Given the description of an element on the screen output the (x, y) to click on. 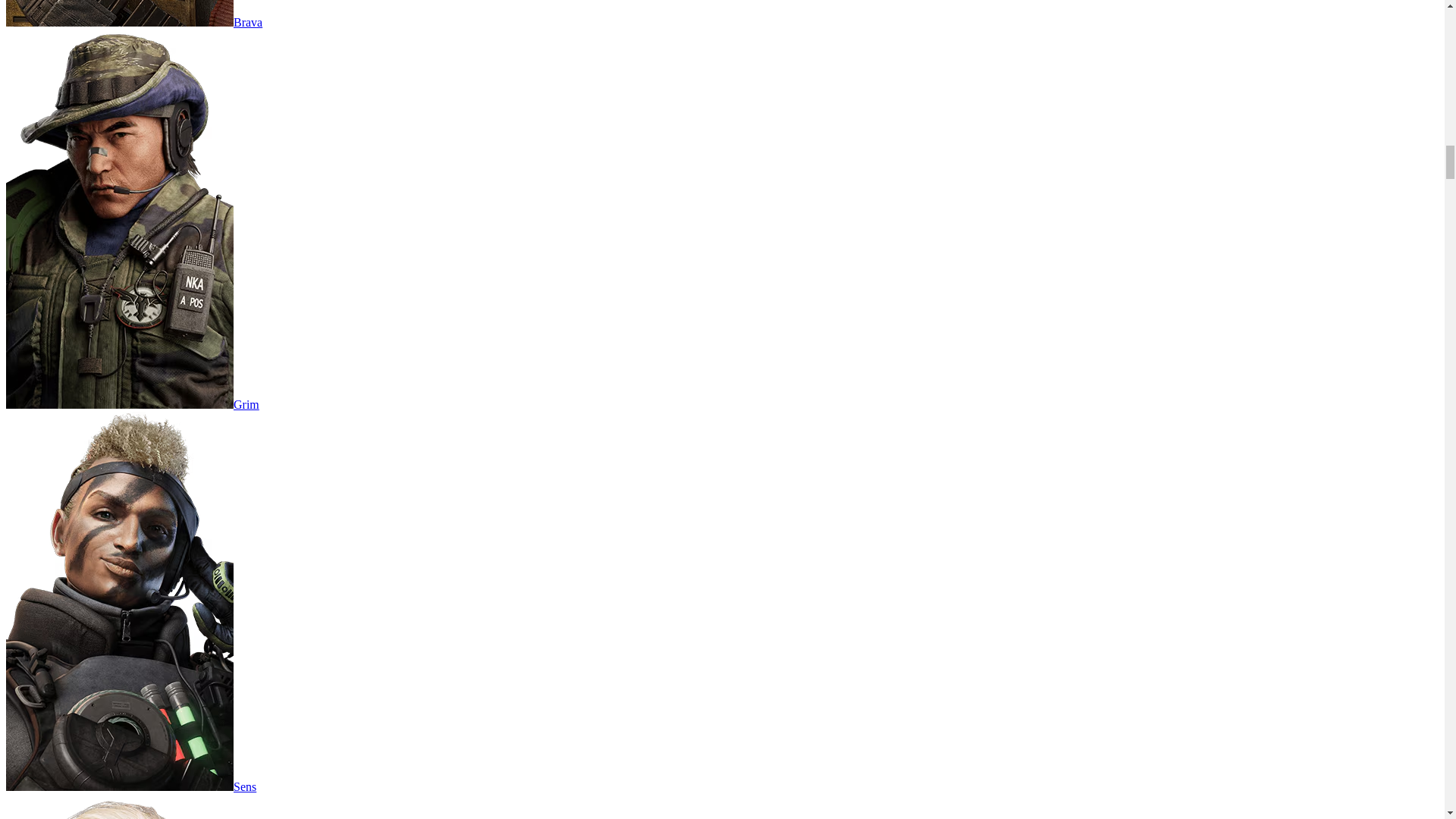
Grim (132, 404)
Brava (133, 21)
Sens (130, 786)
